Given the description of an element on the screen output the (x, y) to click on. 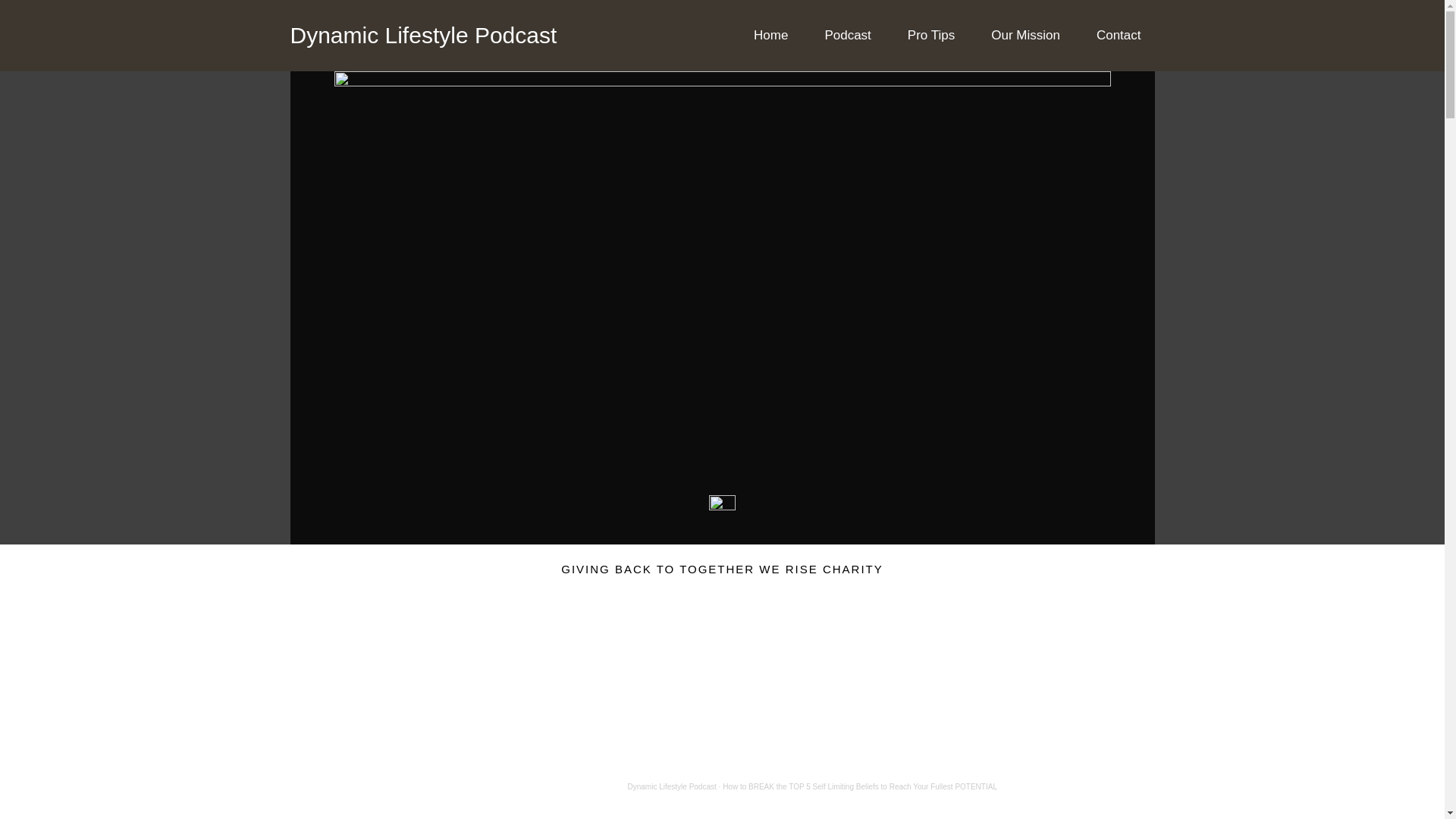
Our Mission (1025, 35)
Contact (1118, 35)
Dynamic Lifestyle Podcast (422, 34)
Dynamic Lifestyle Podcast (671, 786)
Podcast (846, 35)
Pro Tips (930, 35)
Dynamic Lifestyle Podcast (671, 786)
